Given the description of an element on the screen output the (x, y) to click on. 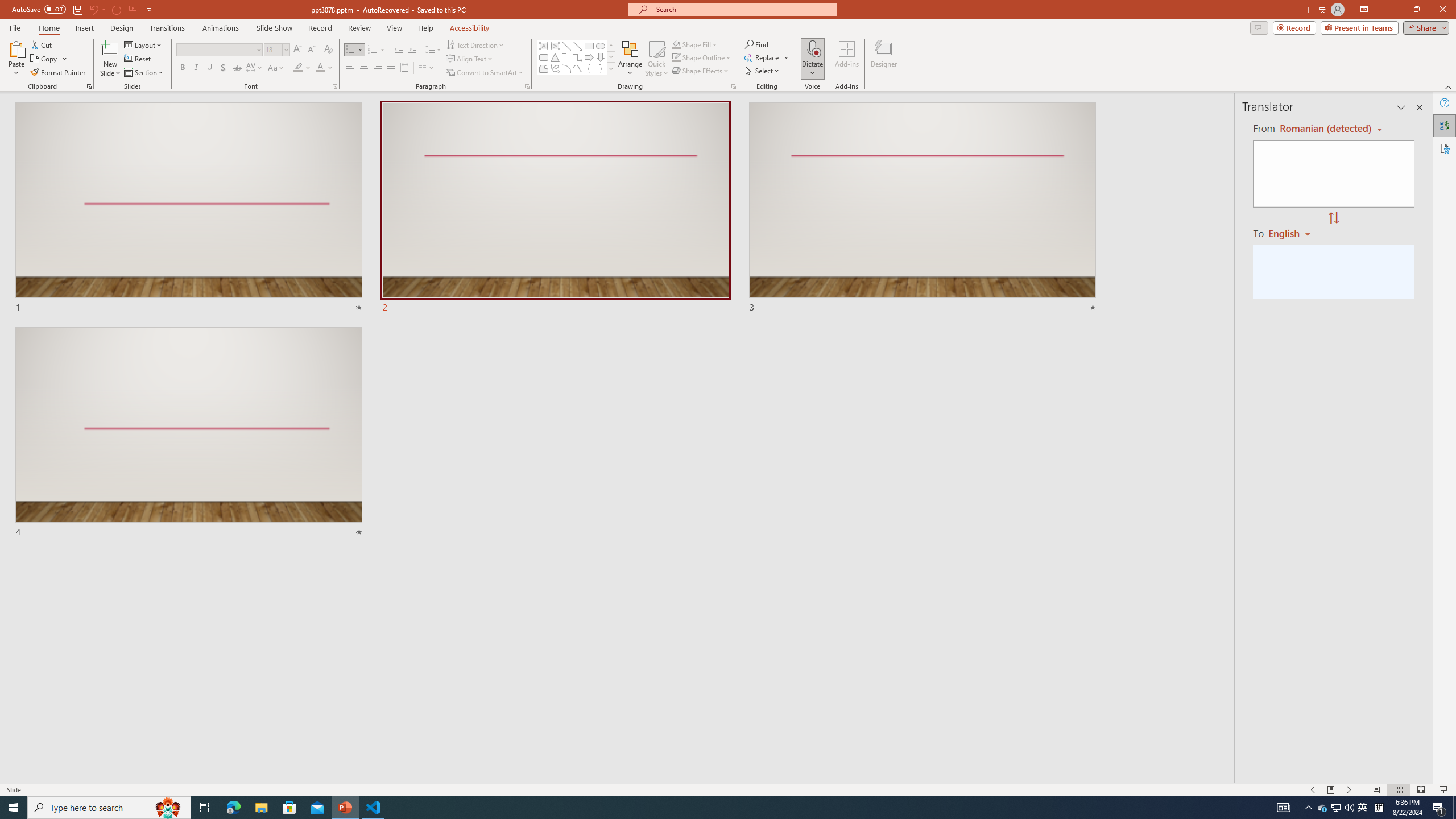
Reading View (1420, 790)
Task Pane Options (1400, 107)
Columns (426, 67)
Arrow: Right (589, 57)
Layout (143, 44)
Copy (45, 58)
Swap "from" and "to" languages. (1333, 218)
Share (1423, 27)
Strikethrough (237, 67)
Shape Fill (694, 44)
Dictate (812, 58)
Justify (390, 67)
Rectangle: Rounded Corners (543, 57)
Select (762, 69)
